Given the description of an element on the screen output the (x, y) to click on. 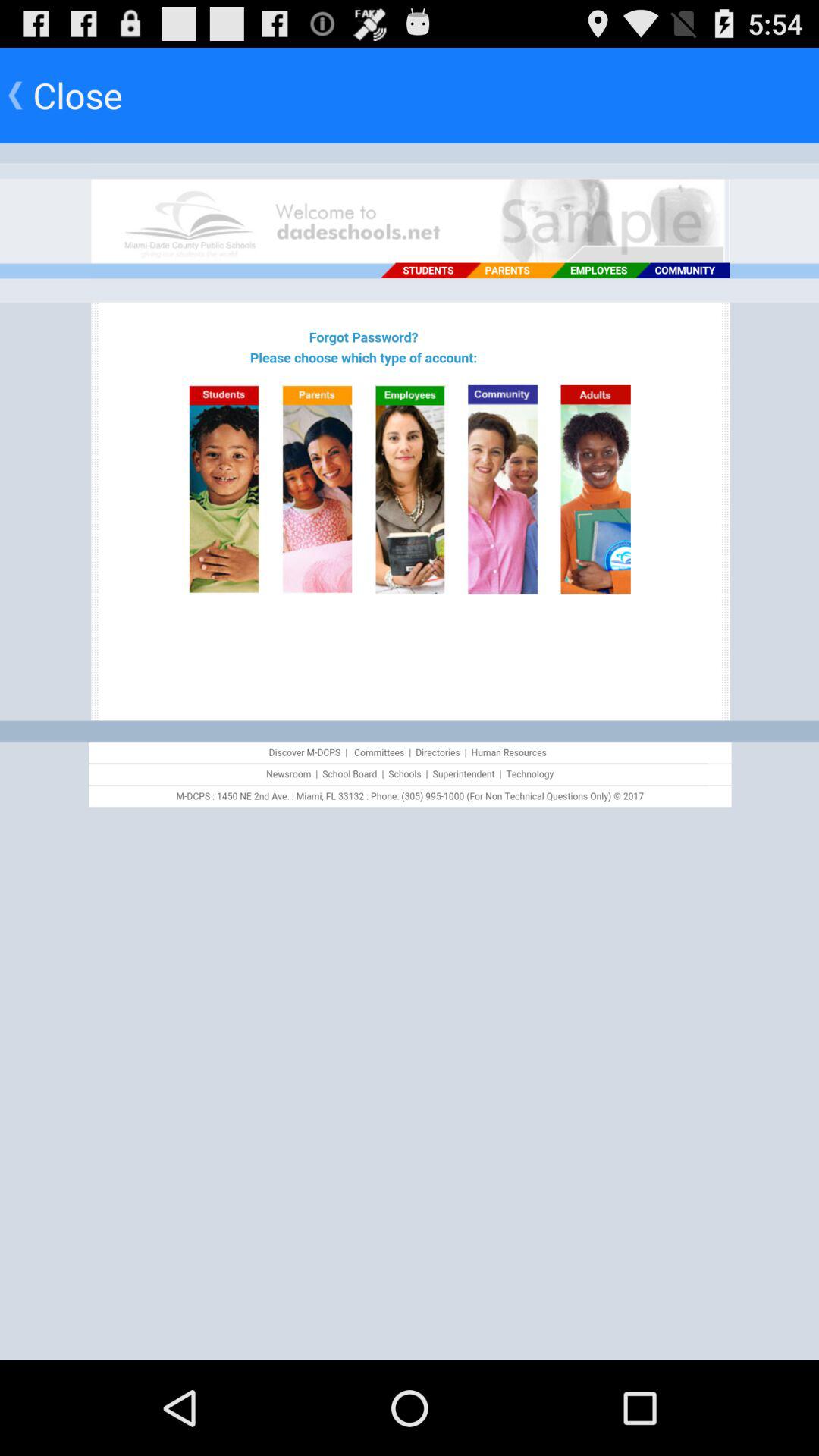
web page (409, 751)
